Given the description of an element on the screen output the (x, y) to click on. 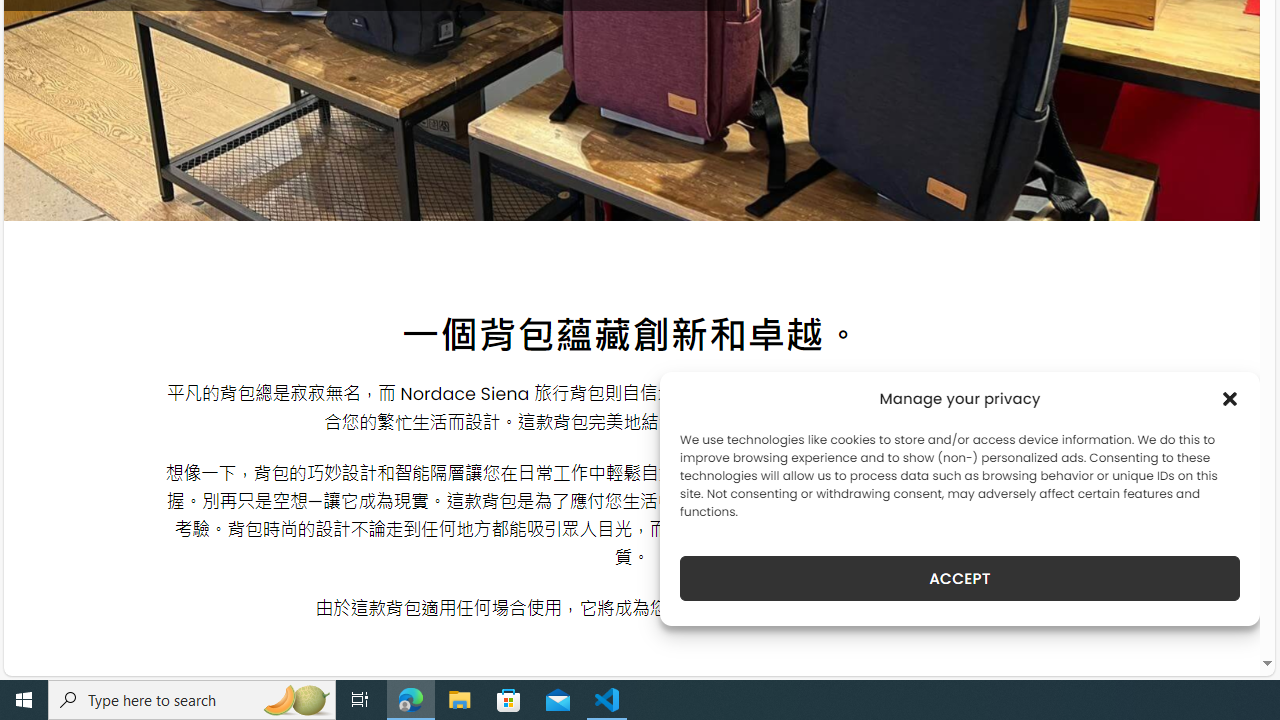
ACCEPT (959, 578)
Class: cmplz-close (1229, 398)
